Given the description of an element on the screen output the (x, y) to click on. 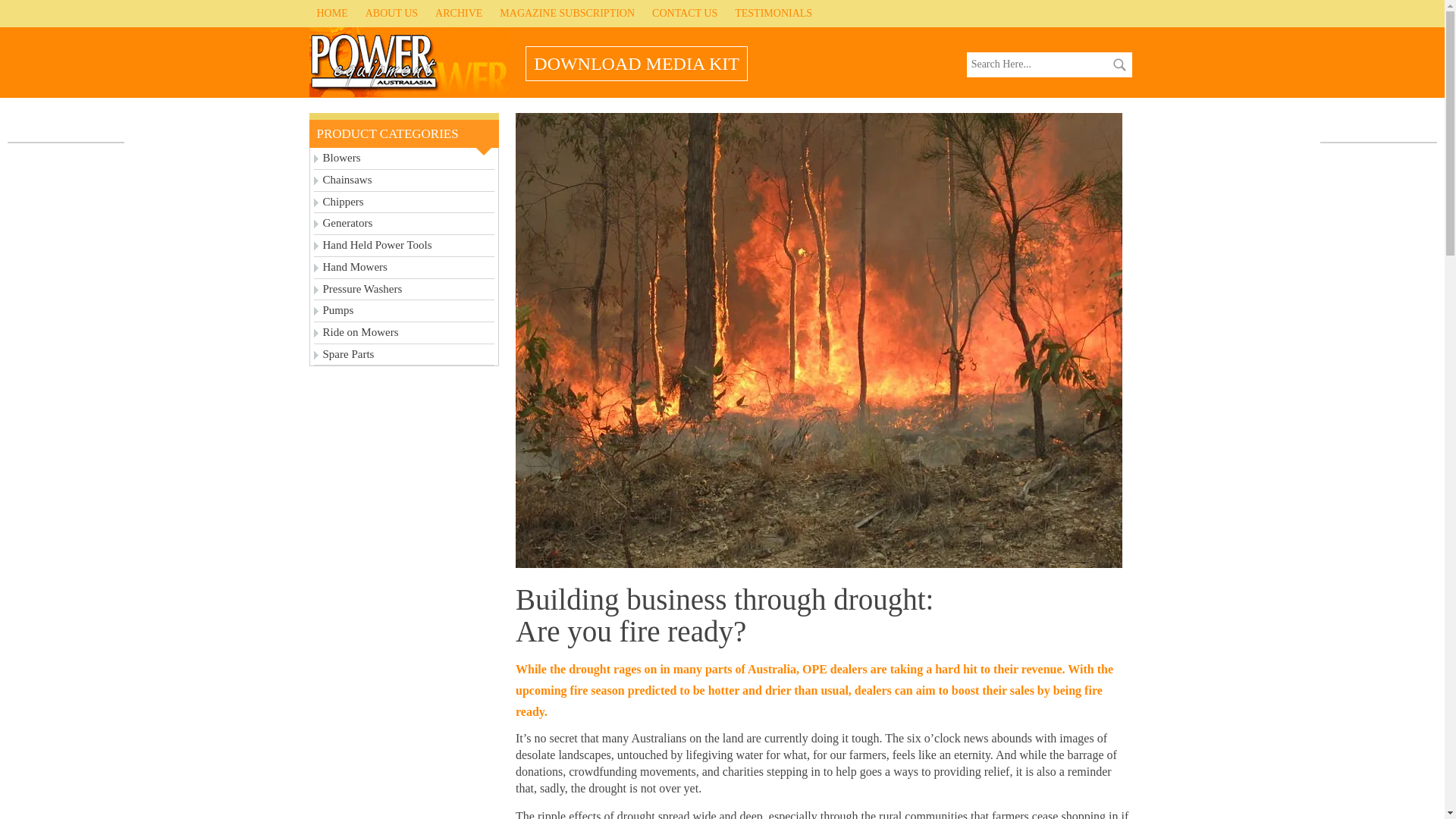
ABOUT US (391, 13)
Hand Held Power Tools (404, 246)
GO (1119, 64)
Pressure Washers (404, 290)
MAGAZINE SUBSCRIPTION (567, 13)
Chippers (404, 202)
Hand Mowers (404, 268)
Generators (404, 223)
Ride on Mowers (404, 332)
Pumps (404, 311)
